Given the description of an element on the screen output the (x, y) to click on. 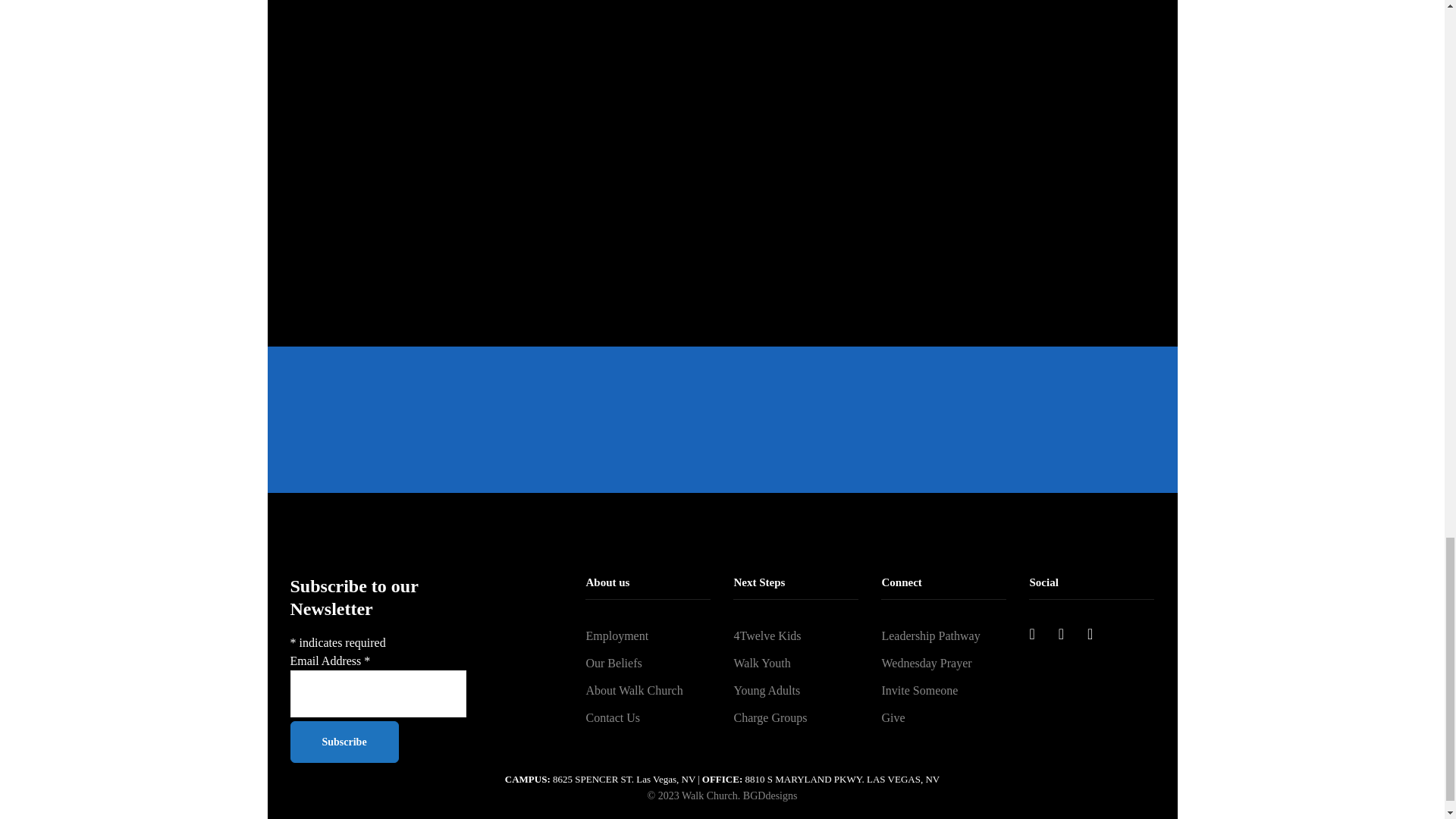
Subscribe (343, 741)
Subscribe (343, 741)
Employment (647, 636)
Our Beliefs (647, 663)
What is RightNow Media Kids? (949, 142)
About Walk Church (647, 690)
